Given the description of an element on the screen output the (x, y) to click on. 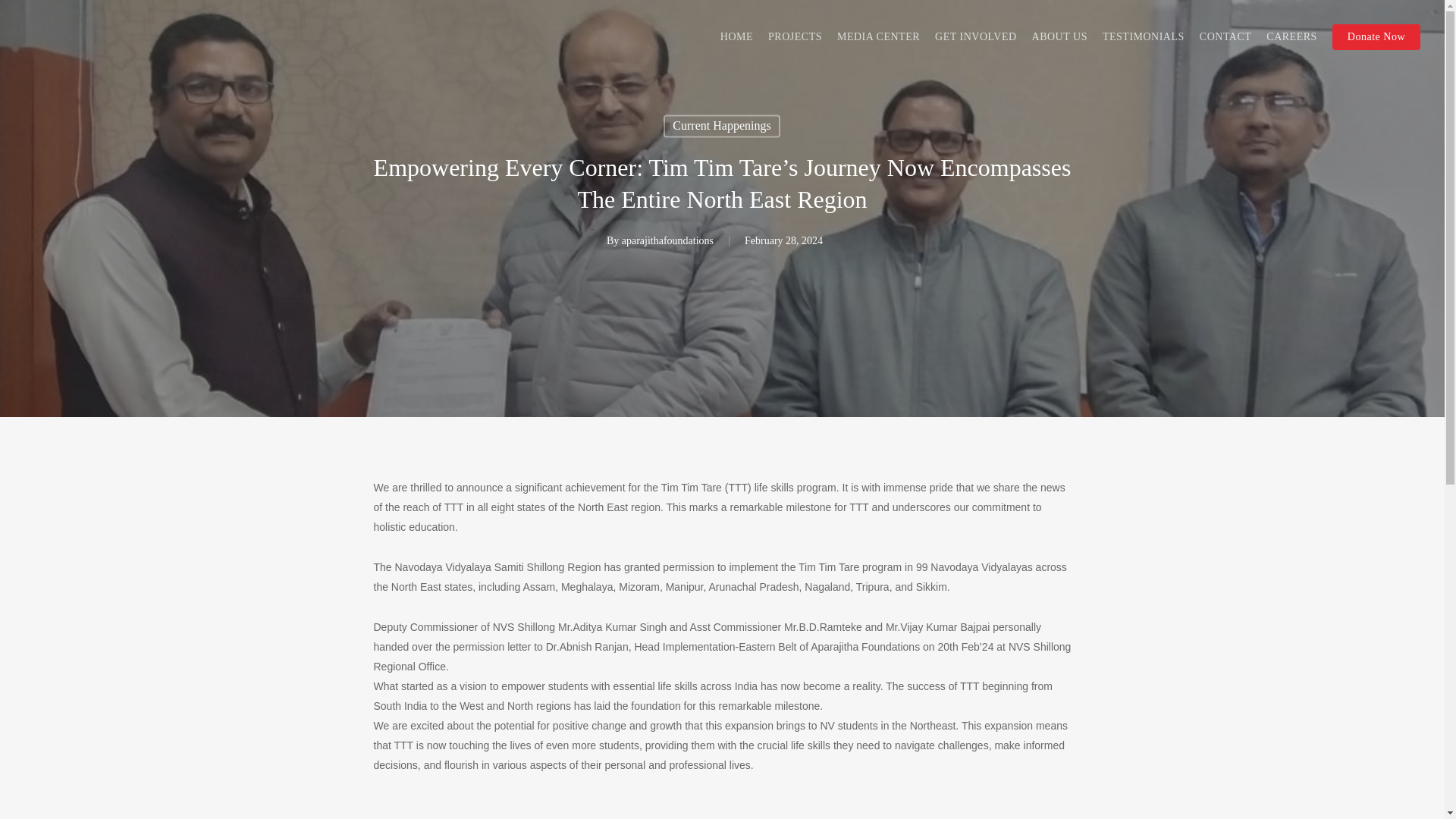
TESTIMONIALS (1143, 37)
CAREERS (1291, 37)
Donate Now (1376, 37)
GET INVOLVED (975, 37)
CONTACT (1225, 37)
aparajithafoundations (667, 241)
Current Happenings (720, 125)
ABOUT US (1059, 37)
HOME (736, 37)
Posts by aparajithafoundations (667, 241)
MEDIA CENTER (878, 37)
PROJECTS (795, 37)
